Given the description of an element on the screen output the (x, y) to click on. 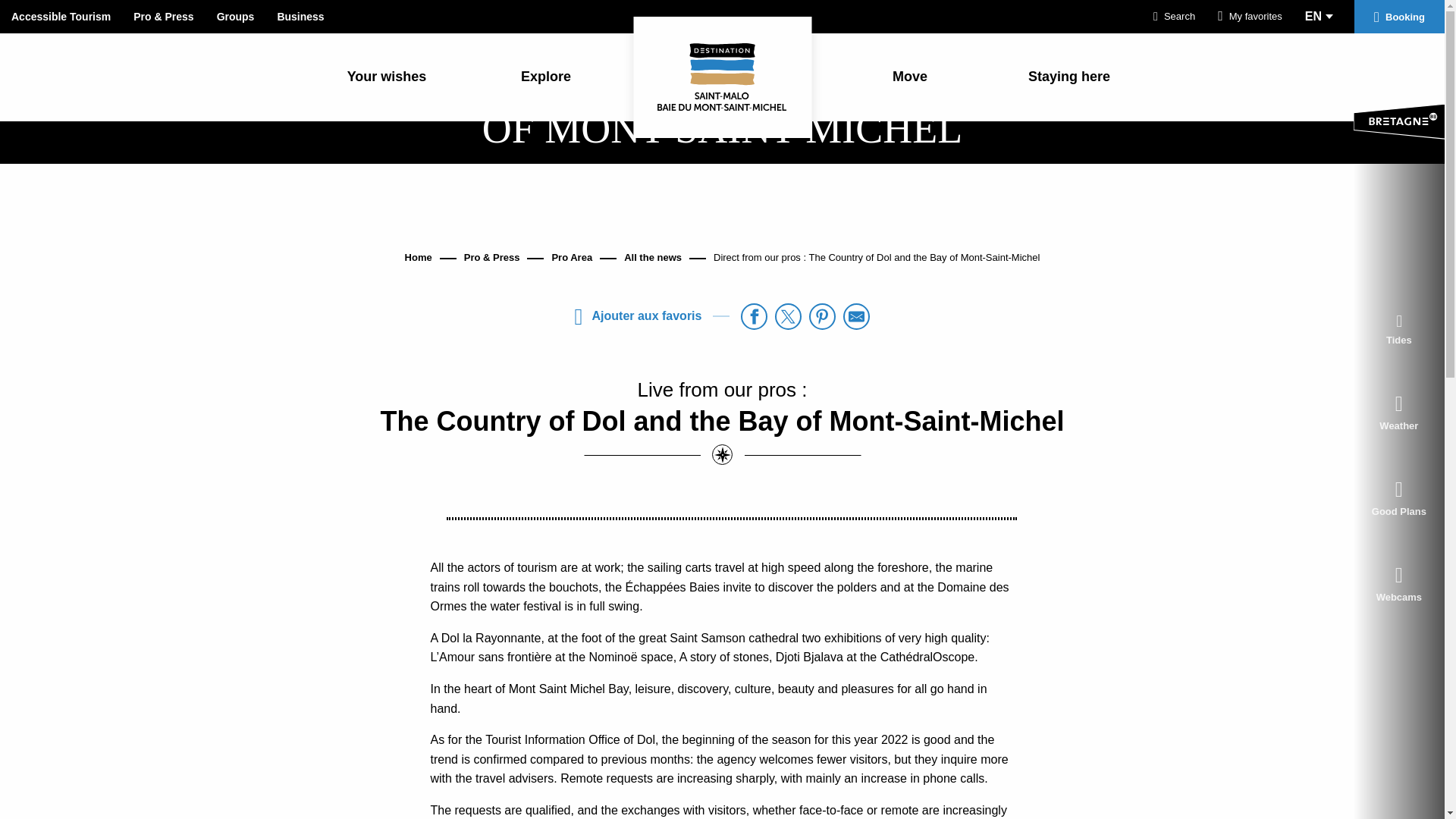
Pro Area (571, 256)
Share on Pinterest (822, 316)
All the news (652, 256)
Share by email (856, 316)
Share on Twitter (788, 316)
Share on Facebook (754, 316)
Home (418, 256)
